Given the description of an element on the screen output the (x, y) to click on. 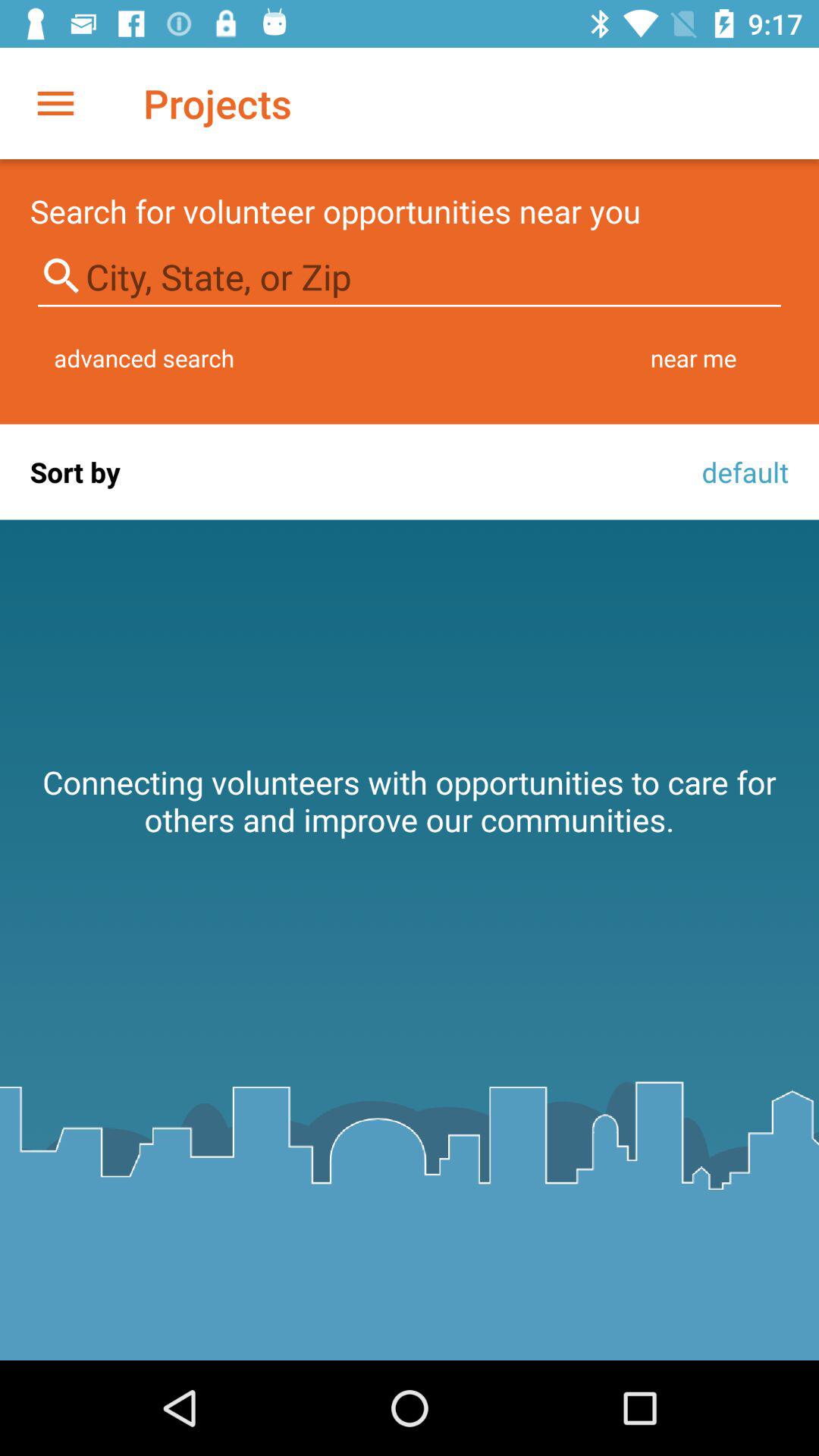
jump until advanced search (144, 358)
